Given the description of an element on the screen output the (x, y) to click on. 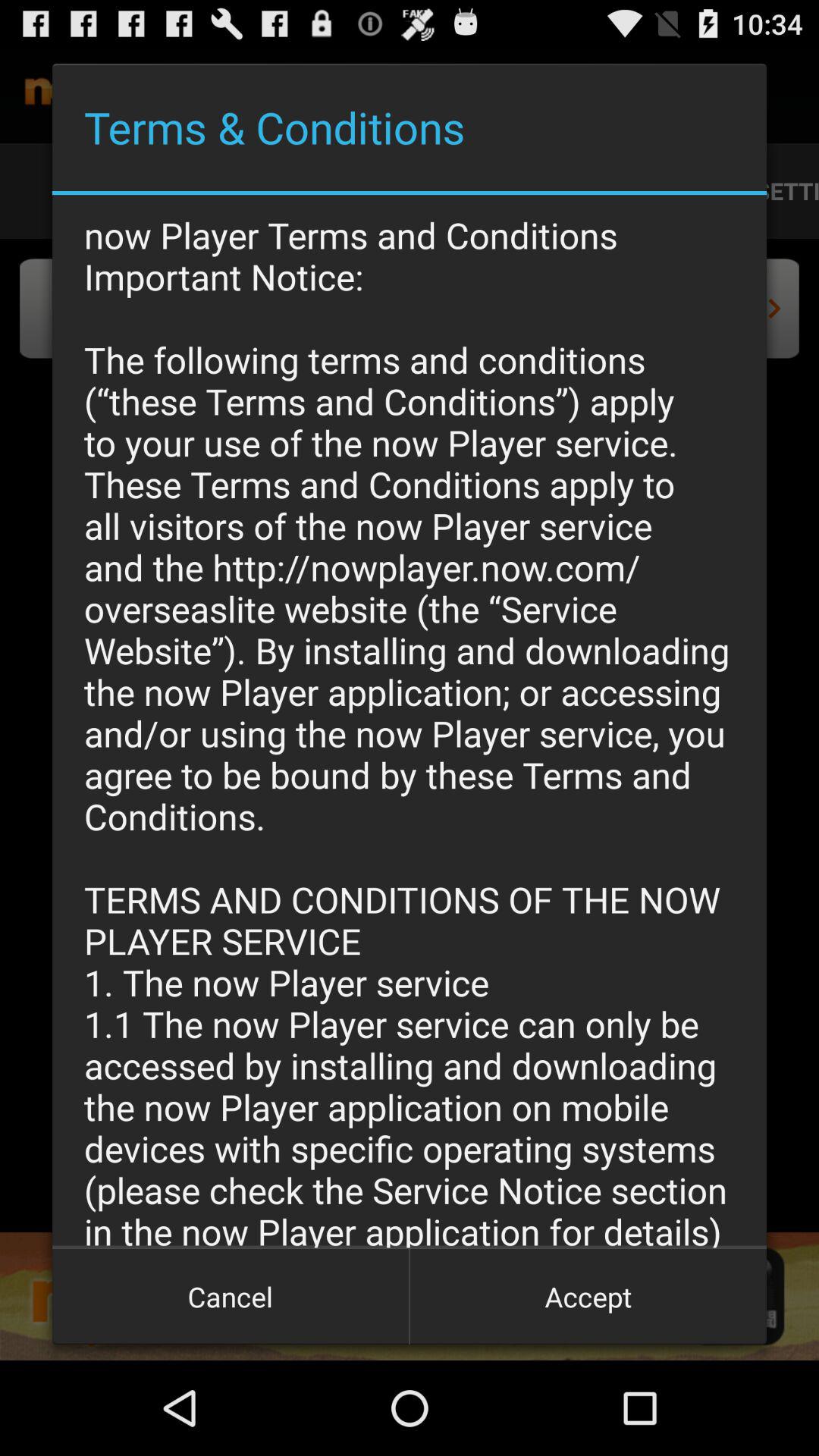
turn on icon at the bottom left corner (230, 1296)
